Given the description of an element on the screen output the (x, y) to click on. 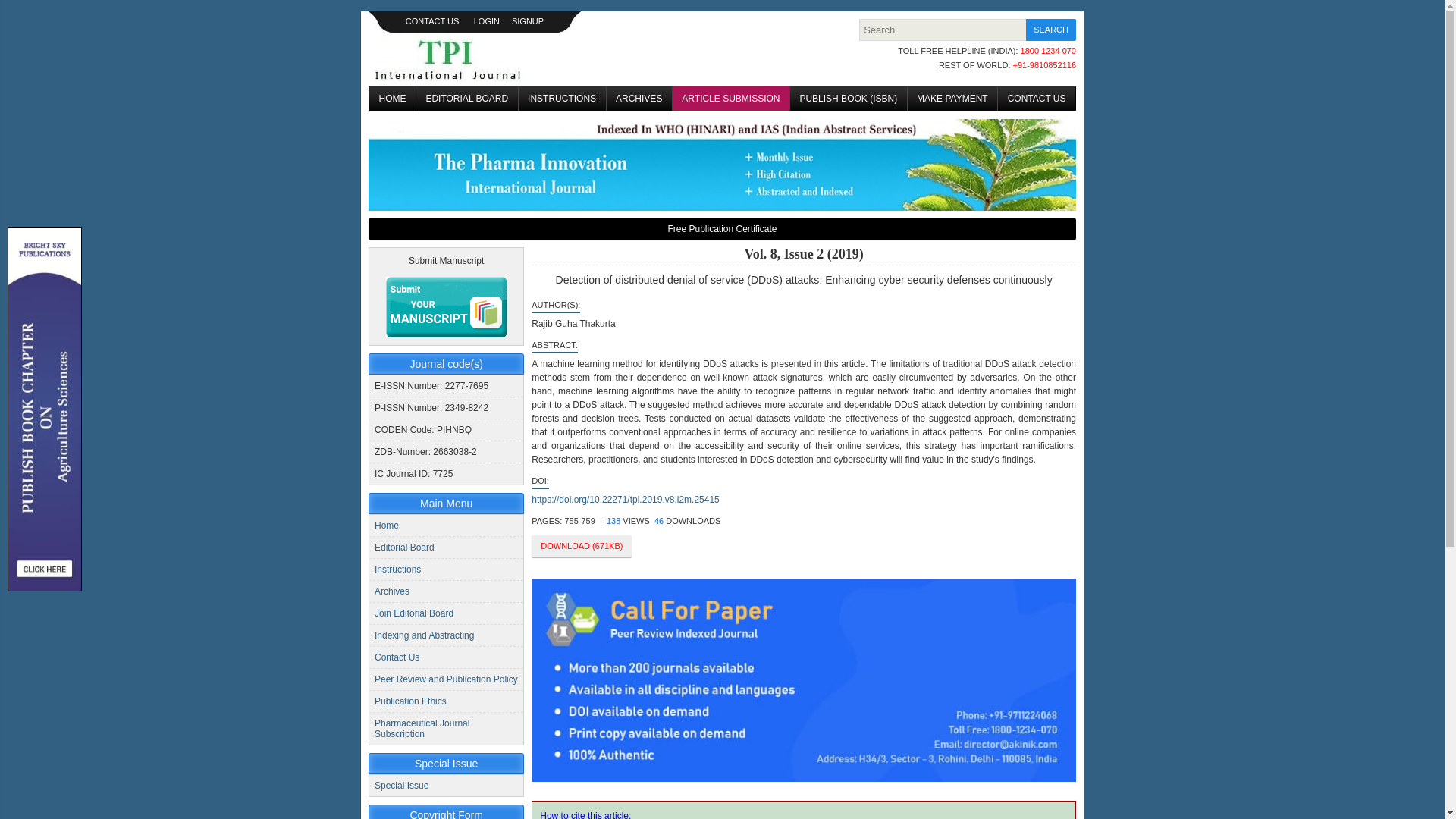
search (1050, 29)
HOME (391, 98)
MAKE PAYMENT (952, 98)
Join Editorial Board (413, 613)
The Pharma Innovation Journal (447, 57)
Contact Us (396, 656)
Instructions (397, 569)
CONTACT US (433, 20)
Indexing and Abstracting (424, 634)
Archives (391, 591)
Submit Manuscript in The Pharma Innovation Journal (445, 306)
LOGIN (486, 20)
Special Issue (401, 785)
Publication Ethics (410, 701)
Editorial Board (403, 547)
